Given the description of an element on the screen output the (x, y) to click on. 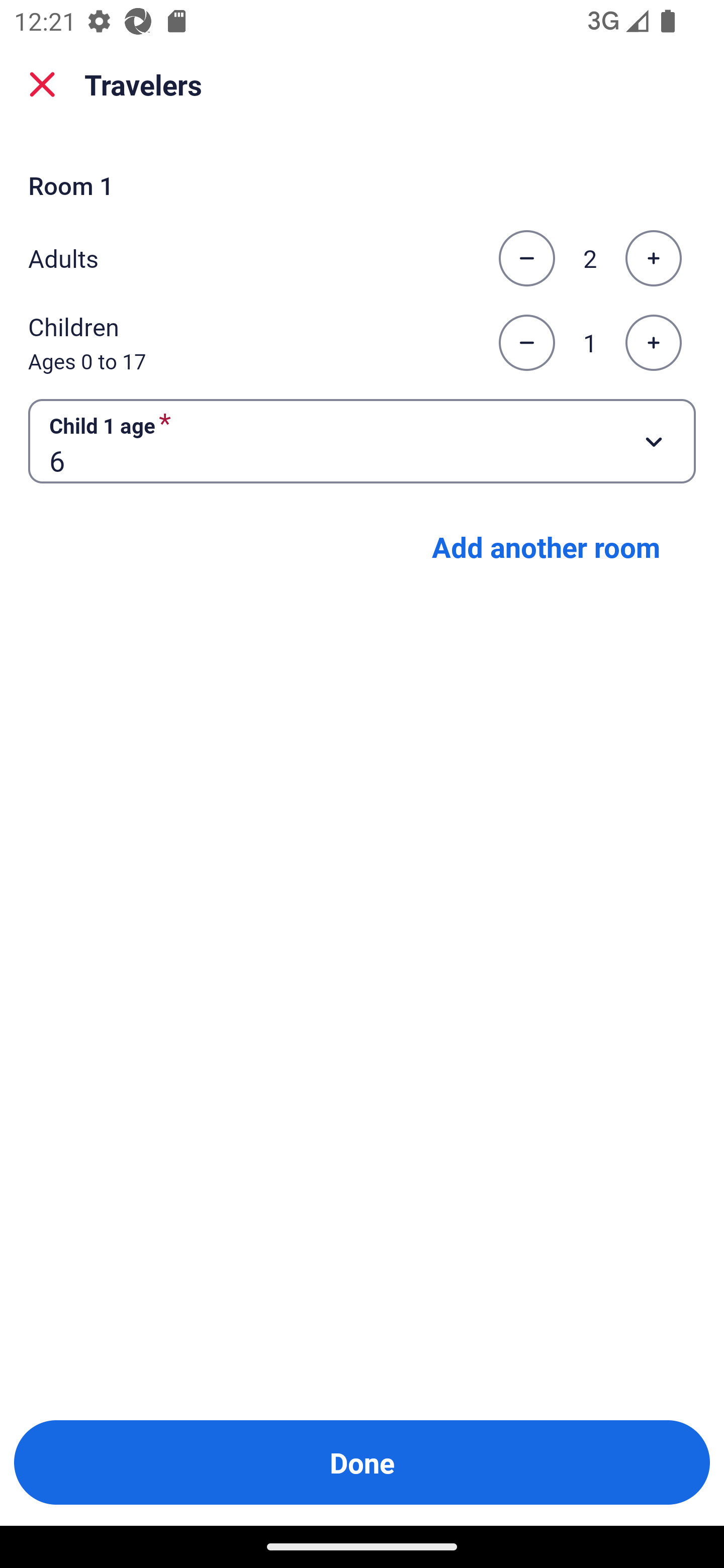
close (42, 84)
Decrease the number of adults (526, 258)
Increase the number of adults (653, 258)
Decrease the number of children (526, 343)
Increase the number of children (653, 343)
Child 1 age required Button 6 (361, 440)
Add another room (545, 546)
Done (361, 1462)
